Given the description of an element on the screen output the (x, y) to click on. 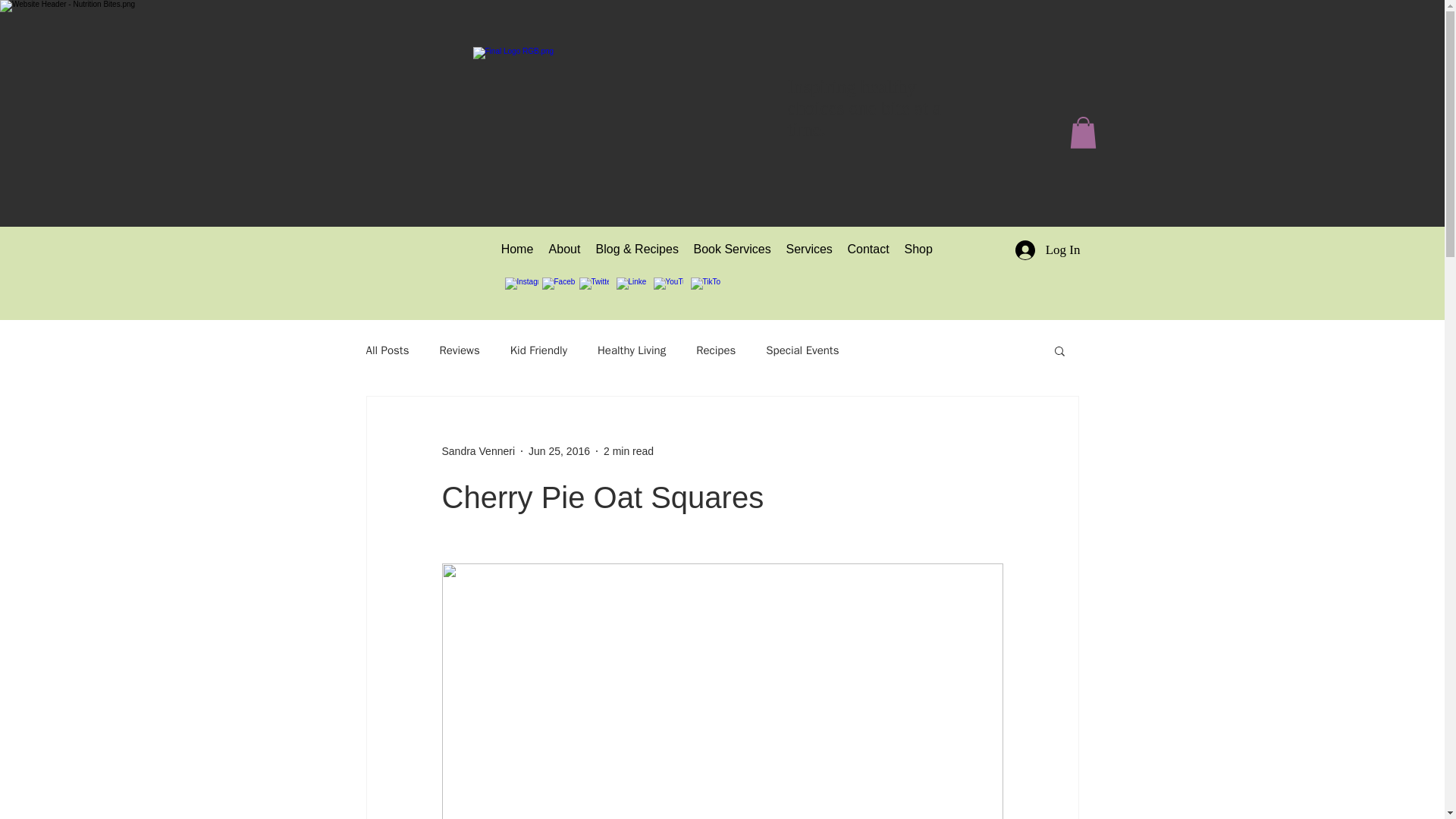
Sandra Venneri (478, 450)
All Posts (387, 350)
Reviews (459, 350)
Shop (917, 249)
Recipes (715, 350)
Special Events (801, 350)
Home (516, 249)
Sandra Venneri (478, 450)
Healthy Living (630, 350)
Jun 25, 2016 (558, 450)
